Given the description of an element on the screen output the (x, y) to click on. 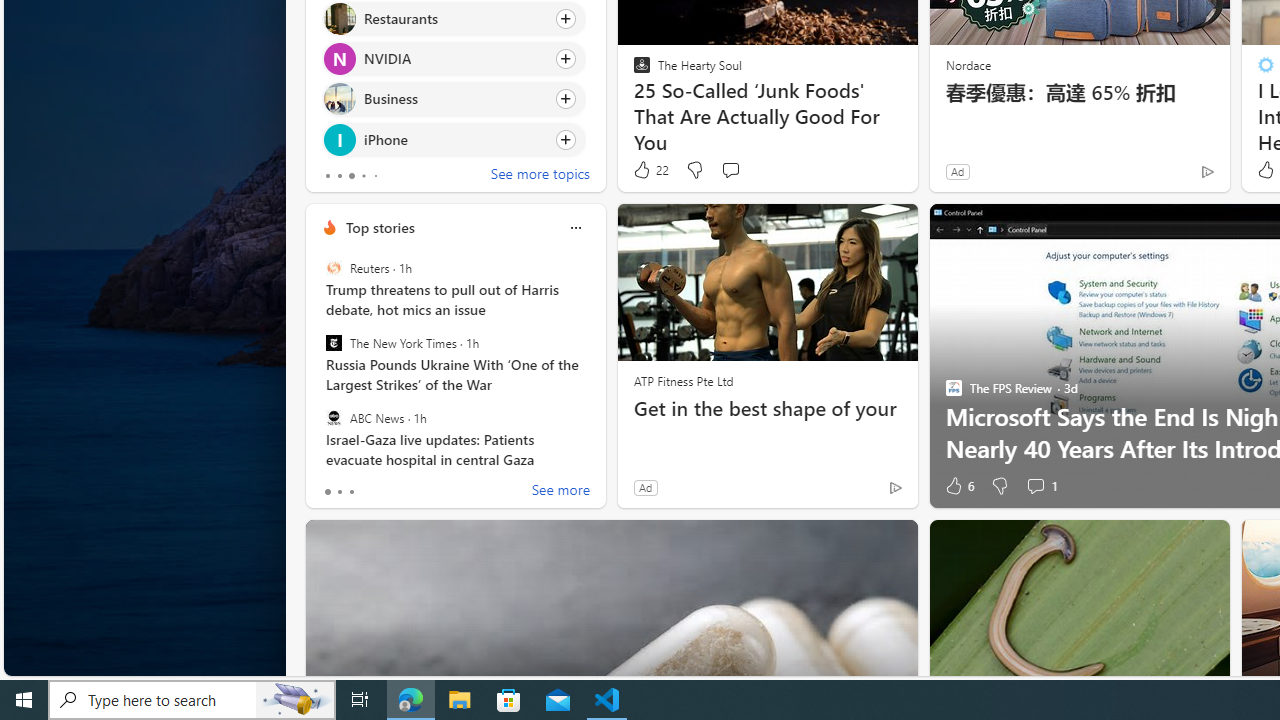
The New York Times (333, 343)
Click to follow topic Restaurants (453, 18)
Ad Choice (895, 487)
6 Like (957, 485)
Business (338, 98)
tab-4 (374, 175)
tab-3 (363, 175)
previous (315, 39)
ATP Fitness Pte Ltd (683, 380)
Restaurants (338, 18)
Class: icon-img (575, 228)
22 Like (650, 170)
